Given the description of an element on the screen output the (x, y) to click on. 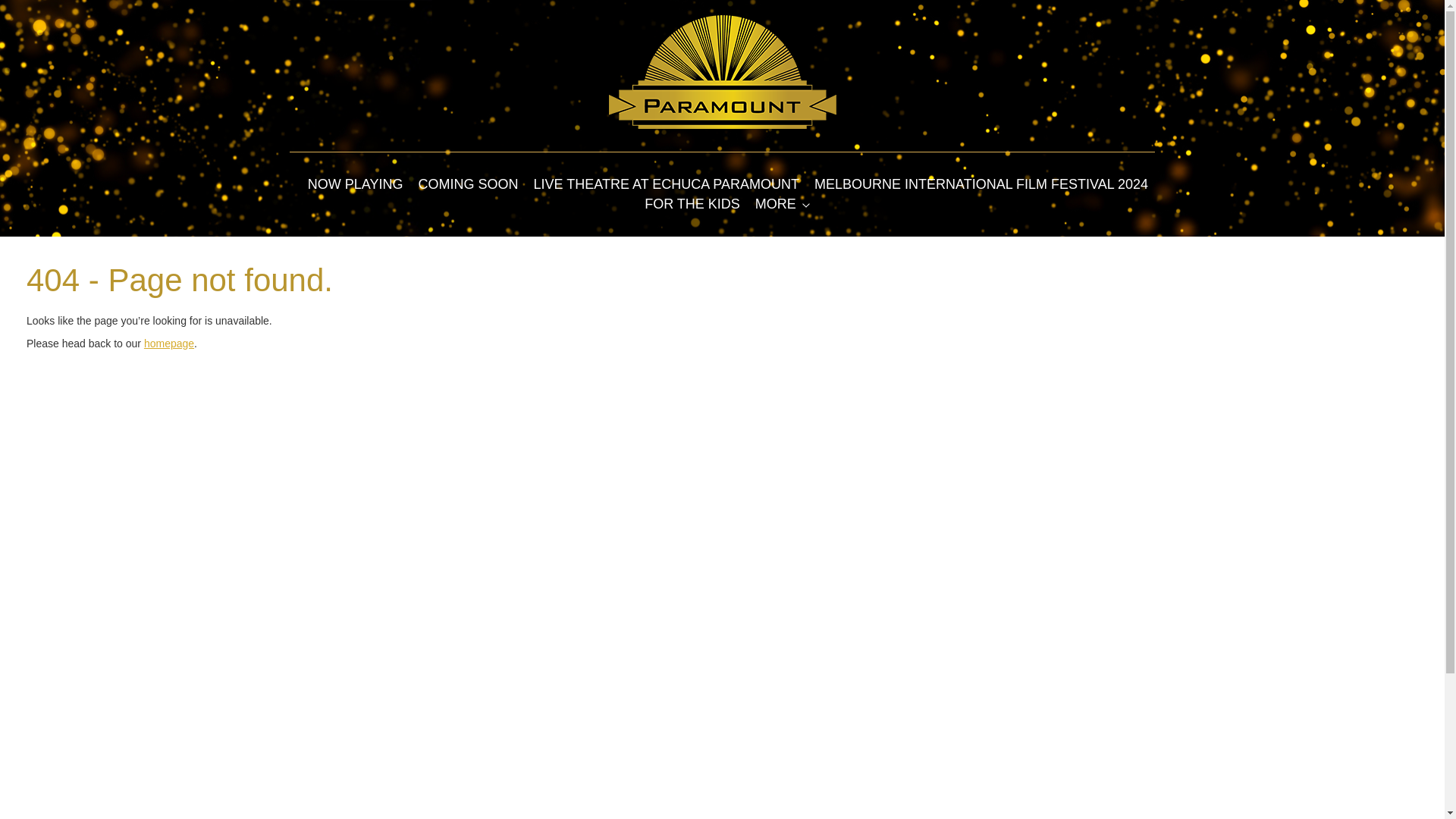
NOW PLAYING (355, 183)
FOR THE KIDS (692, 203)
LIVE THEATRE AT ECHUCA PARAMOUNT (666, 183)
MELBOURNE INTERNATIONAL FILM FESTIVAL 2024 (980, 183)
MORE (775, 203)
homepage (168, 343)
COMING SOON (468, 183)
